Given the description of an element on the screen output the (x, y) to click on. 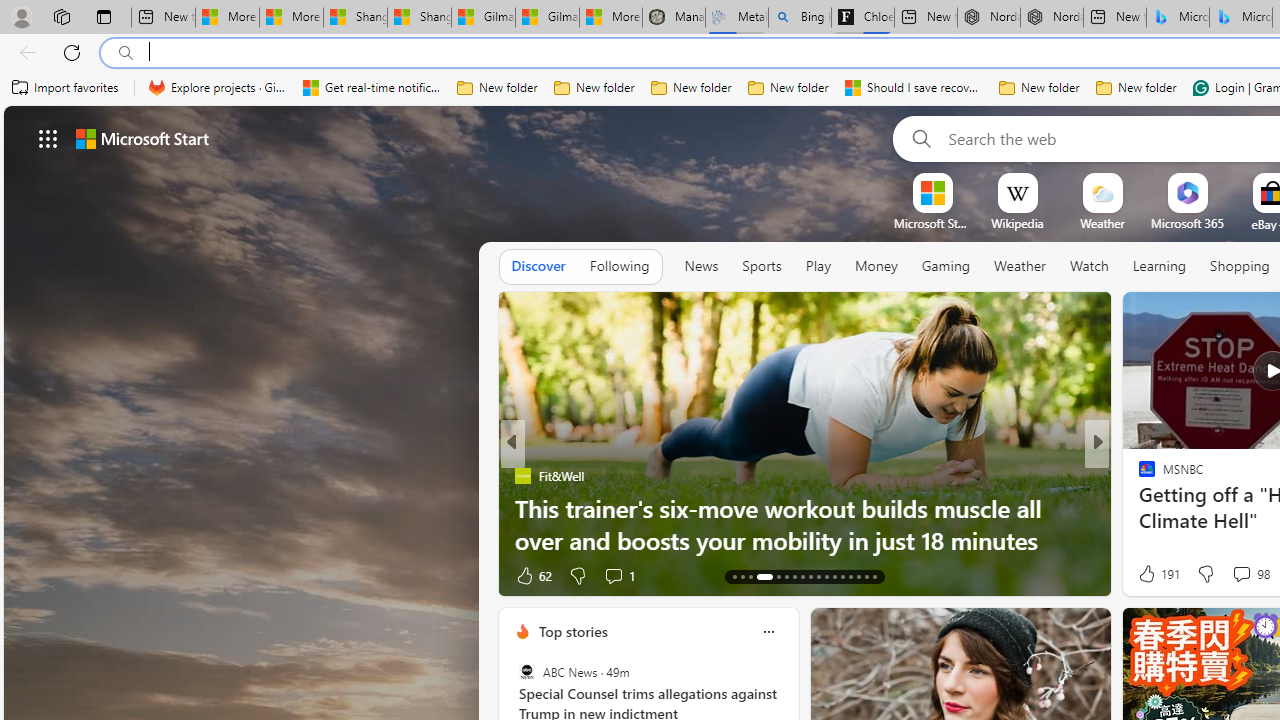
AutomationID: waffle (47, 138)
AutomationID: tab-17 (774, 576)
AutomationID: tab-28 (865, 576)
View comments 16 Comment (1244, 574)
AutomationID: tab-20 (801, 576)
Inc. (1138, 475)
28 Like (1149, 574)
AutomationID: tab-24 (833, 576)
Microsoft Bing Travel - Stays in Bangkok, Bangkok, Thailand (1177, 17)
